Given the description of an element on the screen output the (x, y) to click on. 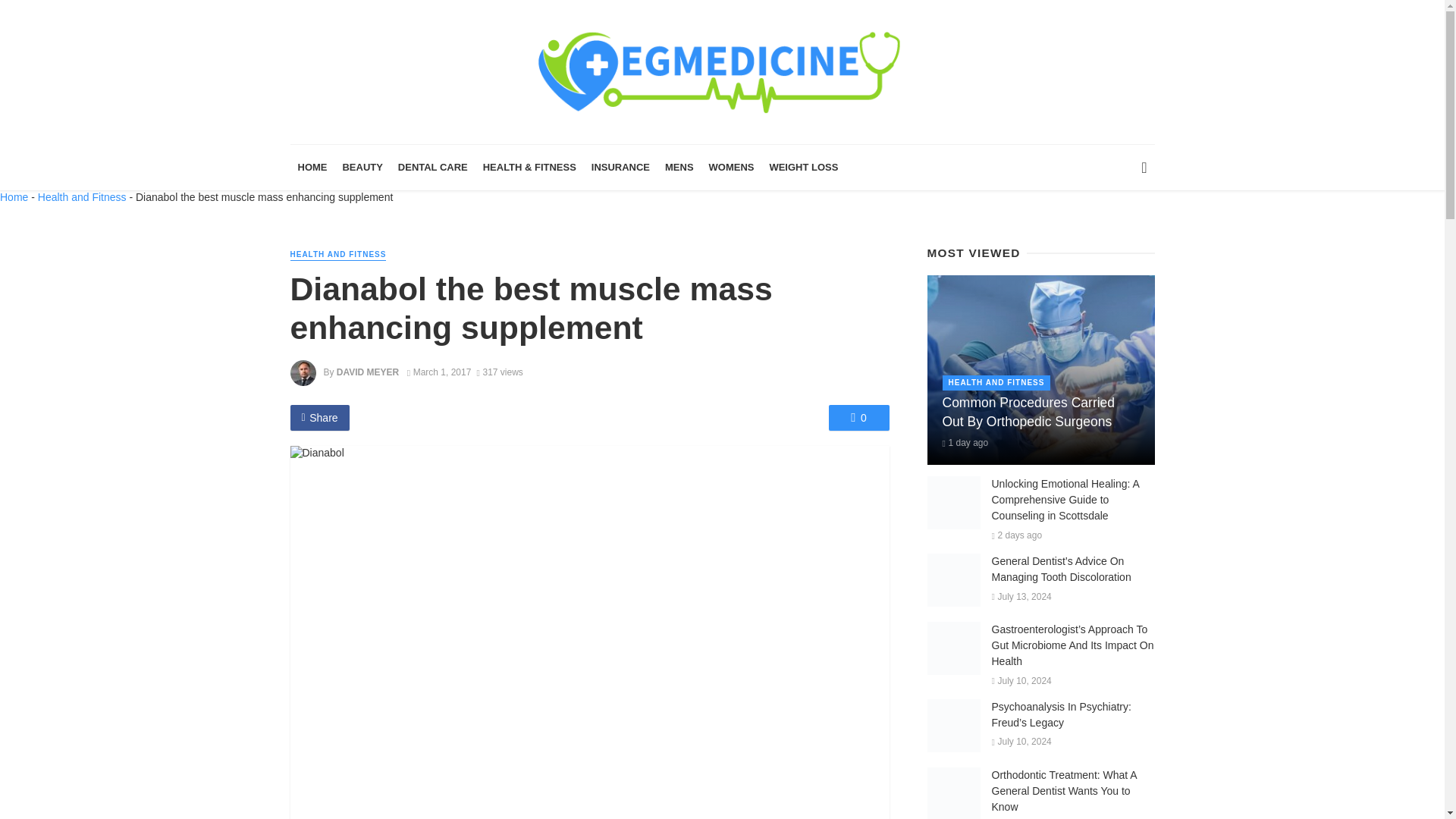
DENTAL CARE (433, 167)
August 3, 2024 at 3:42 am (965, 442)
BEAUTY (362, 167)
HOME (311, 167)
Health and Fitness (81, 196)
MENS (679, 167)
HEALTH AND FITNESS (337, 255)
WOMENS (731, 167)
DAVID MEYER (367, 371)
0 (858, 417)
Share on Facebook (319, 417)
INSURANCE (620, 167)
WEIGHT LOSS (803, 167)
